Given the description of an element on the screen output the (x, y) to click on. 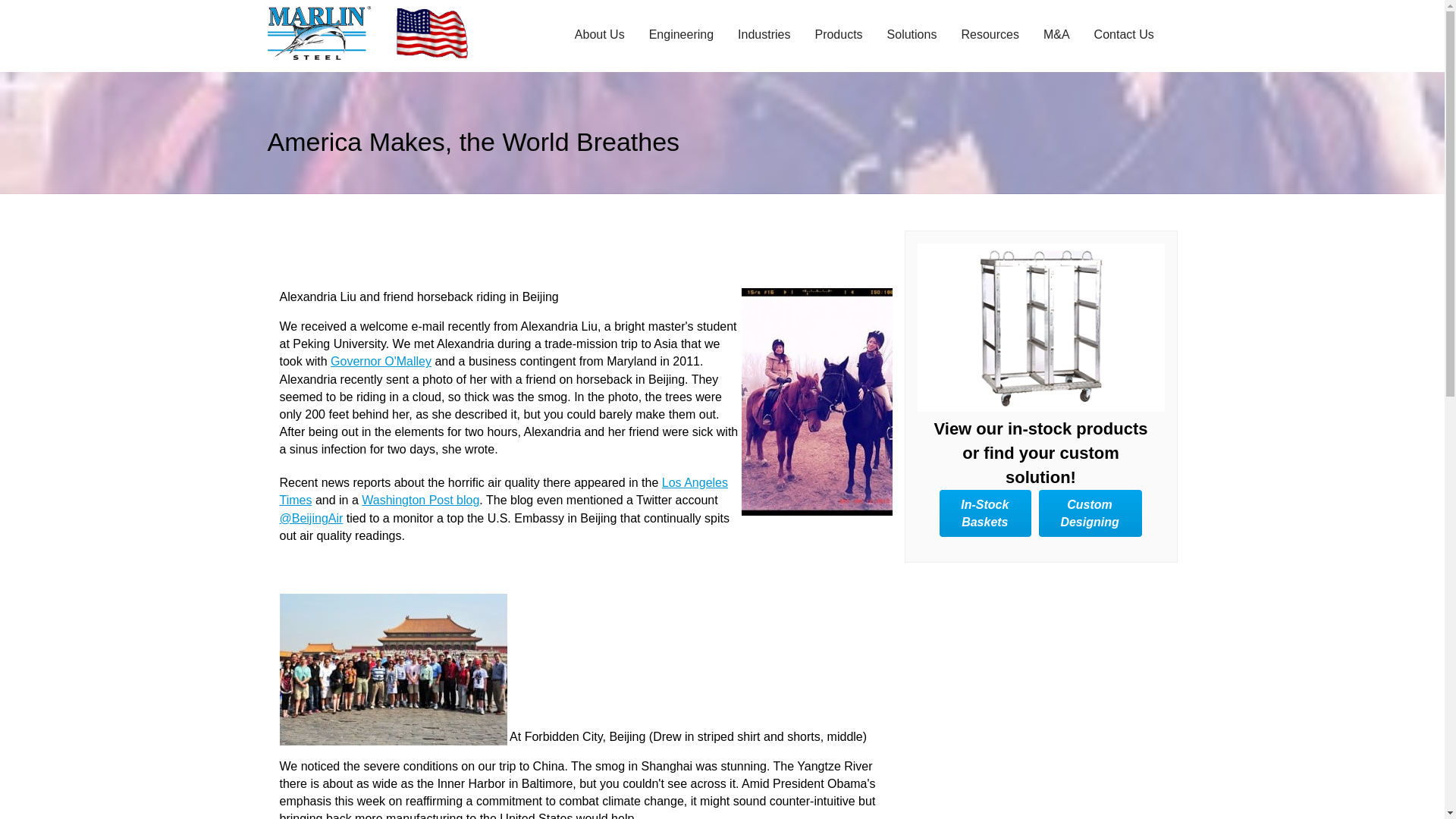
Engineering (681, 34)
Washington Post: Can clean tech ever clean up? (420, 499)
Products (837, 34)
About Us (599, 34)
View our in-stock products (1040, 327)
Marlin Steel (331, 32)
Industries (764, 34)
